Given the description of an element on the screen output the (x, y) to click on. 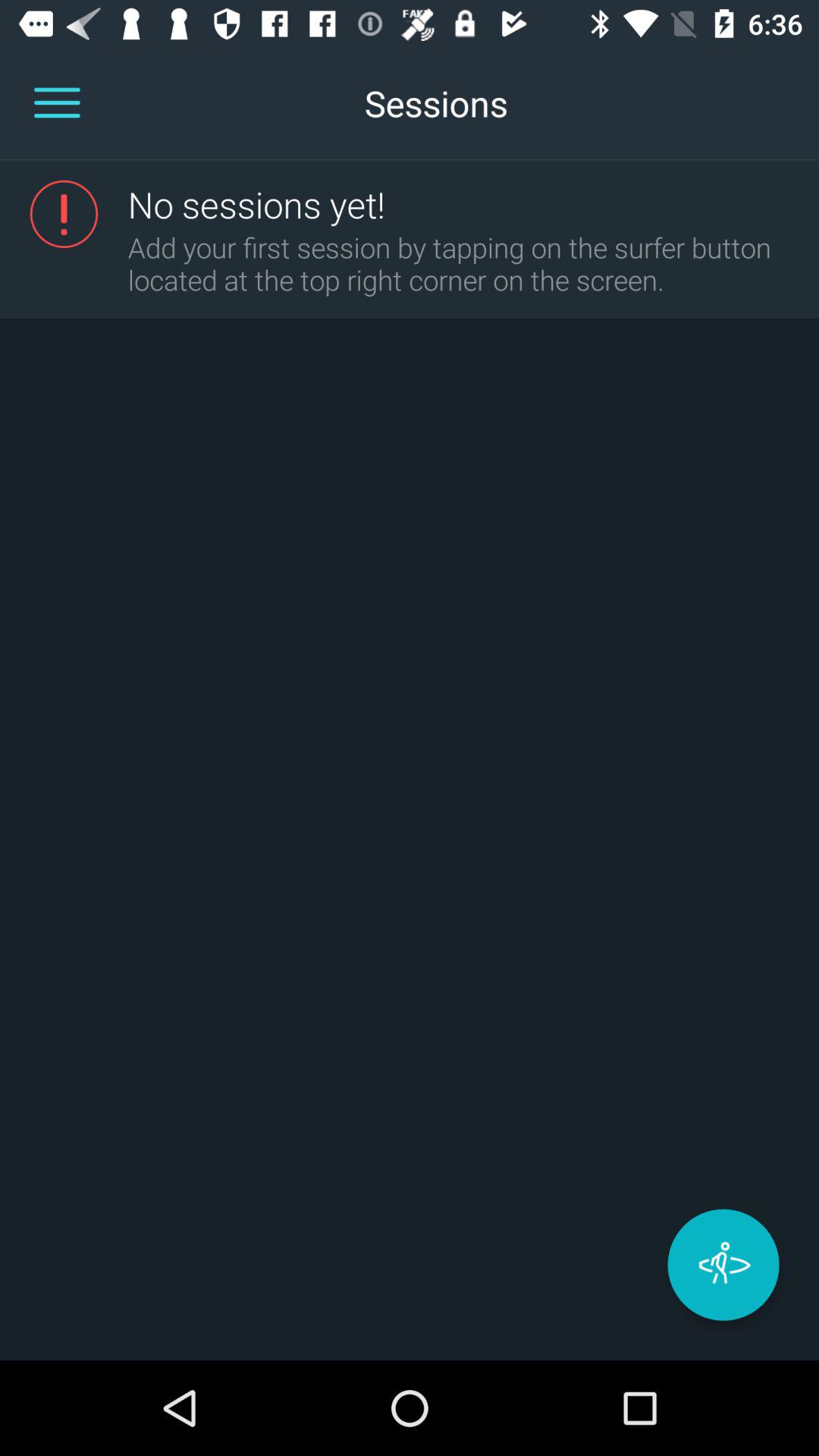
turn on the icon at the bottom right corner (723, 1264)
